Given the description of an element on the screen output the (x, y) to click on. 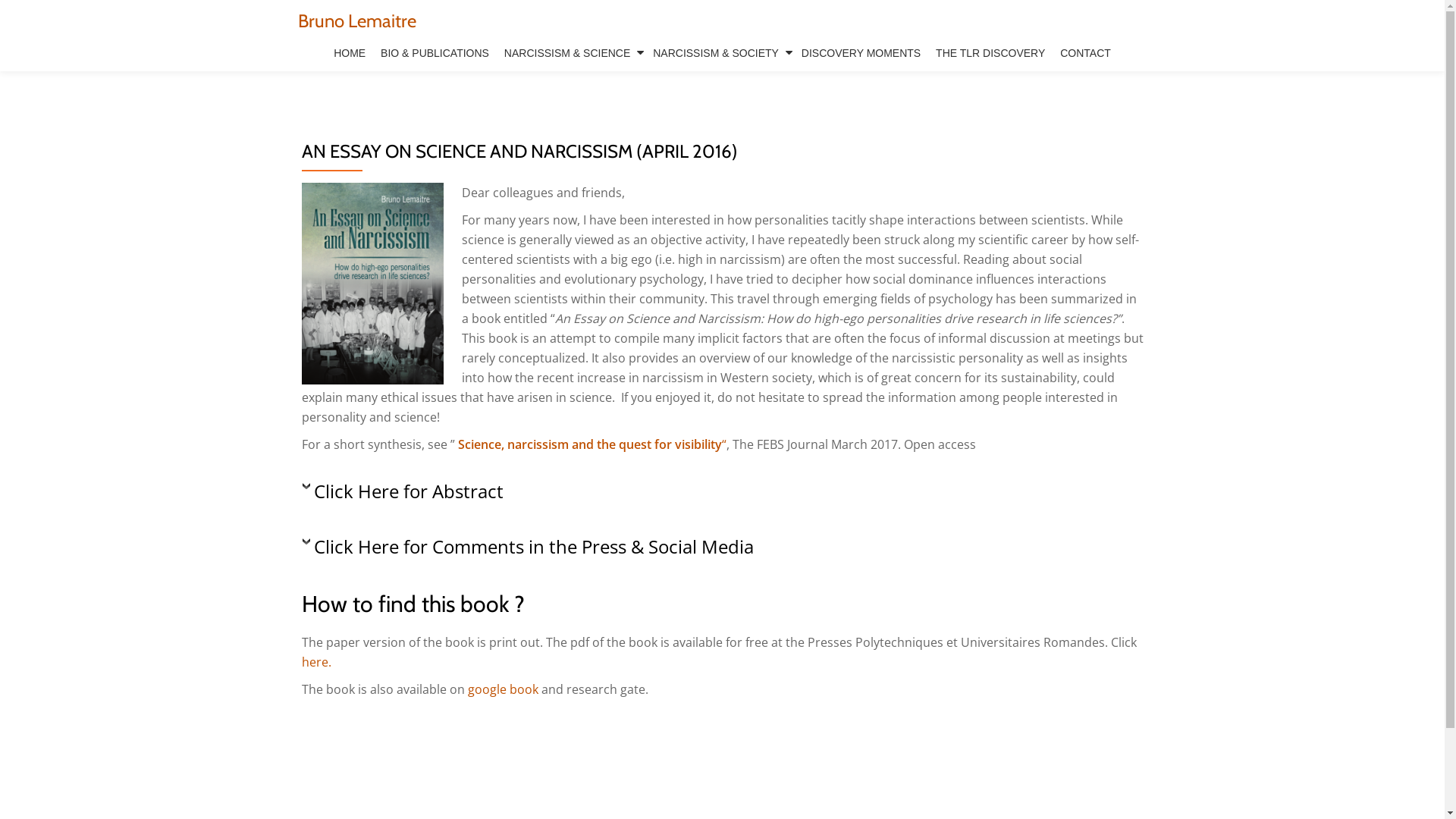
google book Element type: text (502, 688)
here. Element type: text (316, 661)
HOME Element type: text (349, 52)
THE TLR DISCOVERY Element type: text (990, 52)
BIO & PUBLICATIONS Element type: text (434, 52)
NARCISSISM & SOCIETY Element type: text (719, 52)
Bruno Lemaitre Element type: text (356, 20)
CONTACT Element type: text (1085, 52)
NARCISSISM & SCIENCE Element type: text (570, 52)
DISCOVERY MOMENTS Element type: text (860, 52)
Skip to content Element type: text (0, 30)
